Given the description of an element on the screen output the (x, y) to click on. 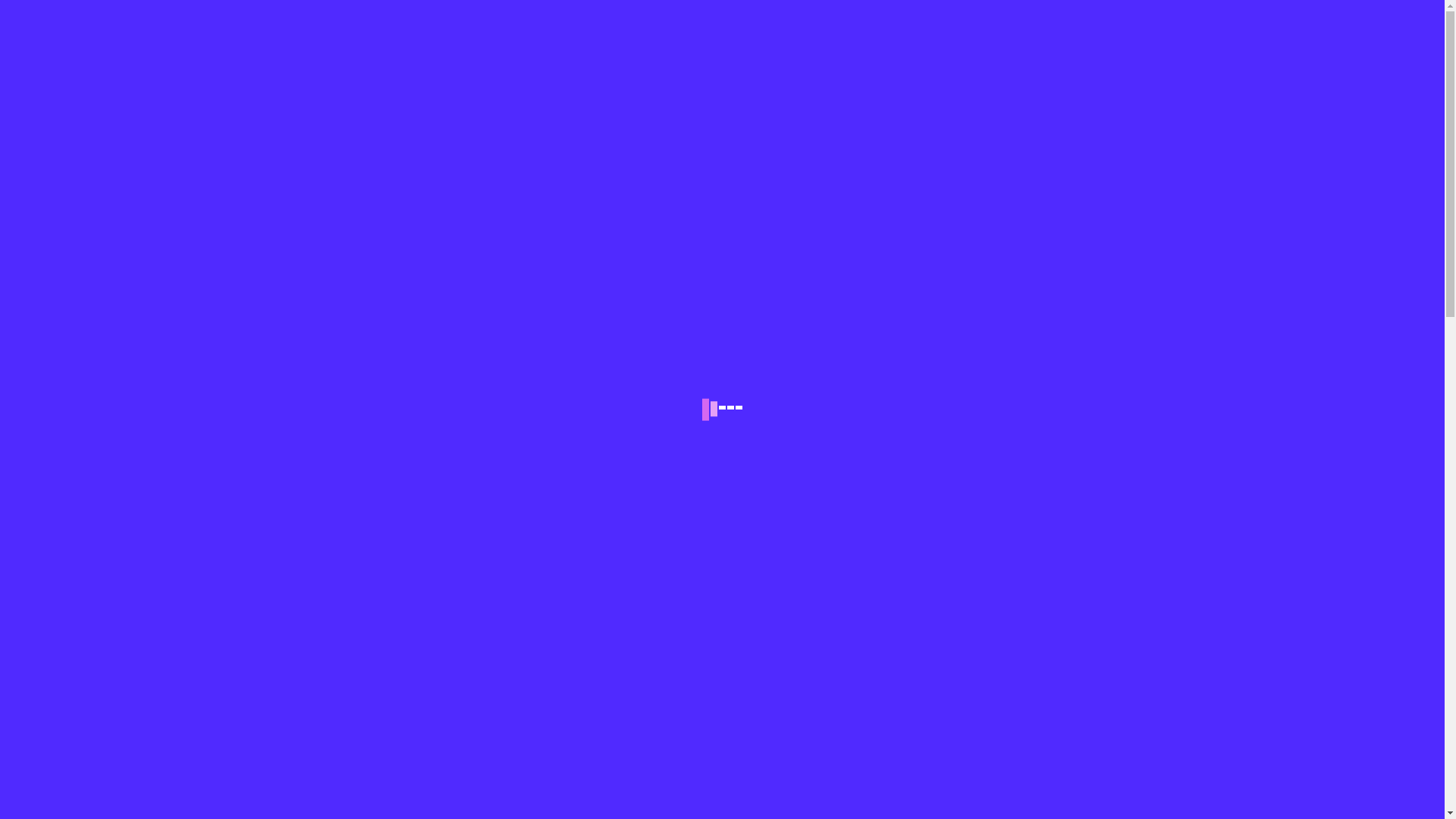
Pricing Element type: text (617, 79)
How to configure display setting in windows 10 & 11 Element type: text (1085, 789)
About Element type: text (556, 79)
Terms Element type: text (816, 79)
info@360sqr.com Element type: text (158, 22)
Home Element type: text (504, 79)
Home Element type: text (696, 190)
Free Trial Element type: text (884, 79)
Contact Us Element type: text (743, 79)
How to open file explorer in windows 10 & 11 Element type: text (1085, 637)
My Account Element type: text (963, 79)
How we change a pin in windows 10 & 11 Element type: text (1085, 734)
How to show desktop setting in windows 10 & 11 Element type: text (1085, 580)
Blog Element type: text (674, 79)
How we create a toolbar in windows 10 & 11 Element type: text (1085, 685)
